Given the description of an element on the screen output the (x, y) to click on. 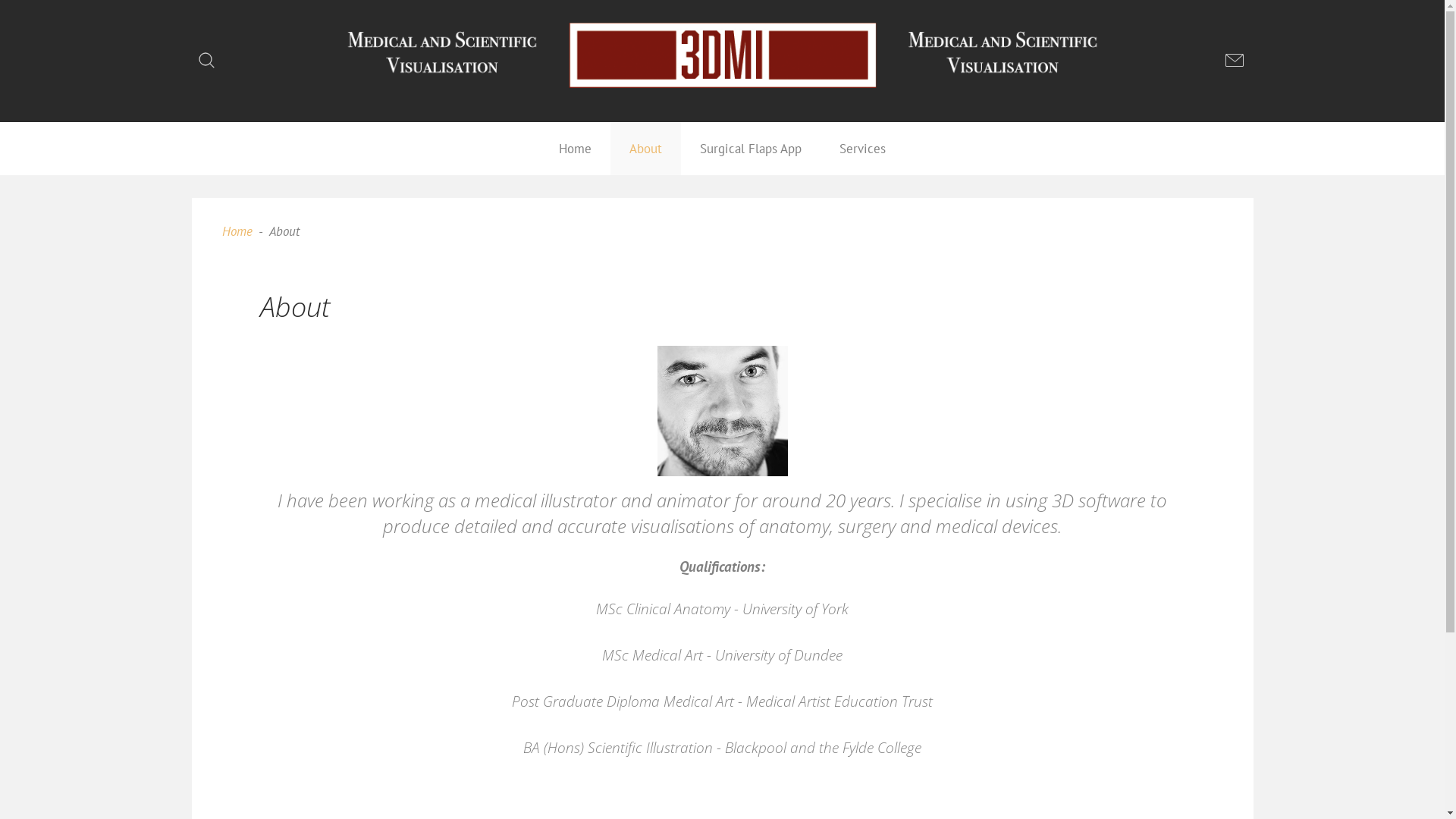
Home Element type: text (236, 230)
Home Element type: text (574, 148)
About Element type: text (645, 148)
Surgical Flaps App Element type: text (750, 148)
Services Element type: text (862, 148)
